Given the description of an element on the screen output the (x, y) to click on. 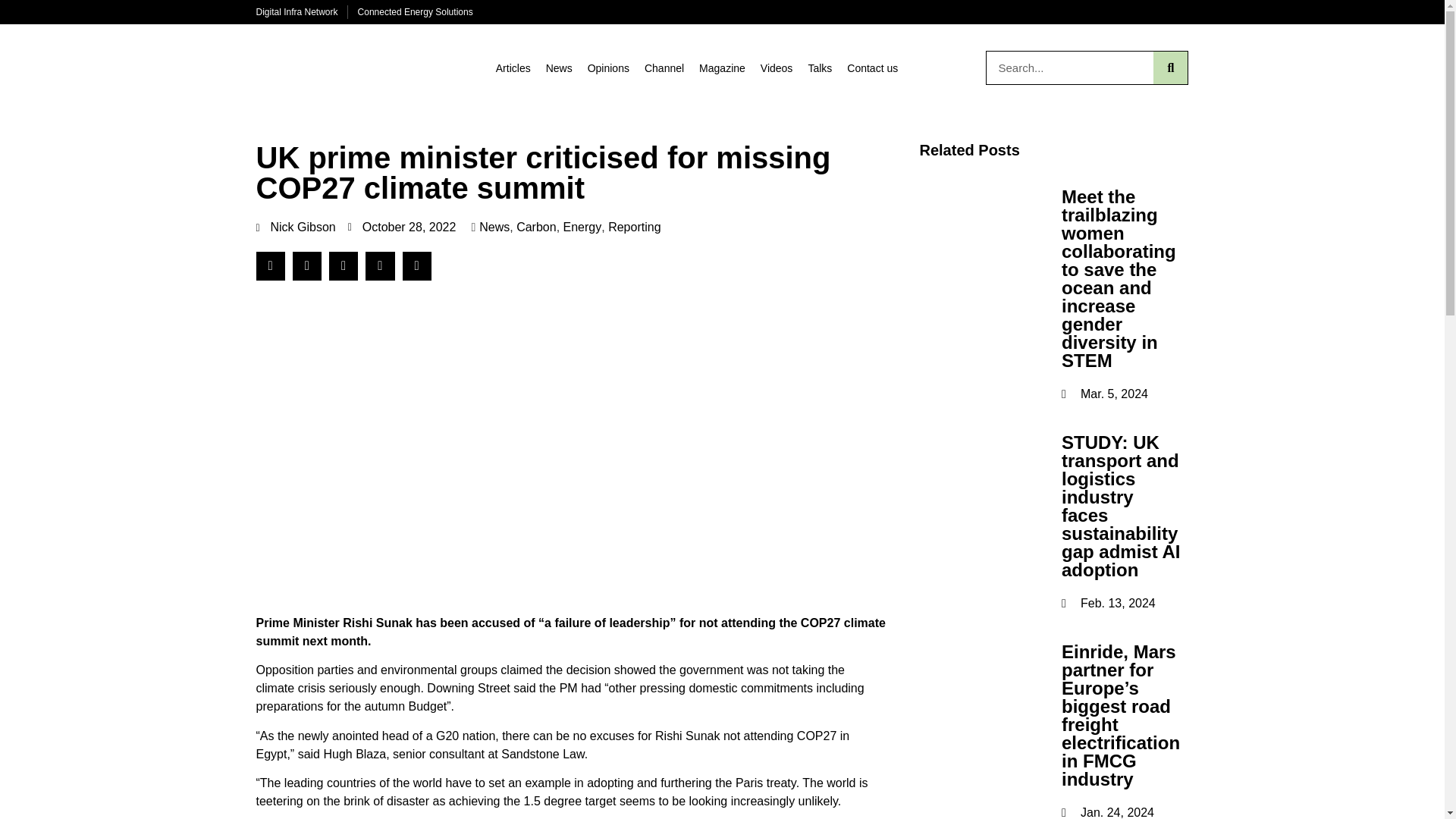
Digital Infra Network (296, 11)
Search (1170, 67)
Videos (776, 67)
Contact us (872, 67)
Connected Energy Solutions (415, 11)
Opinions (608, 67)
News (494, 227)
Nick Gibson (296, 227)
Channel (664, 67)
Search (1070, 67)
October 28, 2022 (402, 227)
Magazine (721, 67)
Articles (513, 67)
